Given the description of an element on the screen output the (x, y) to click on. 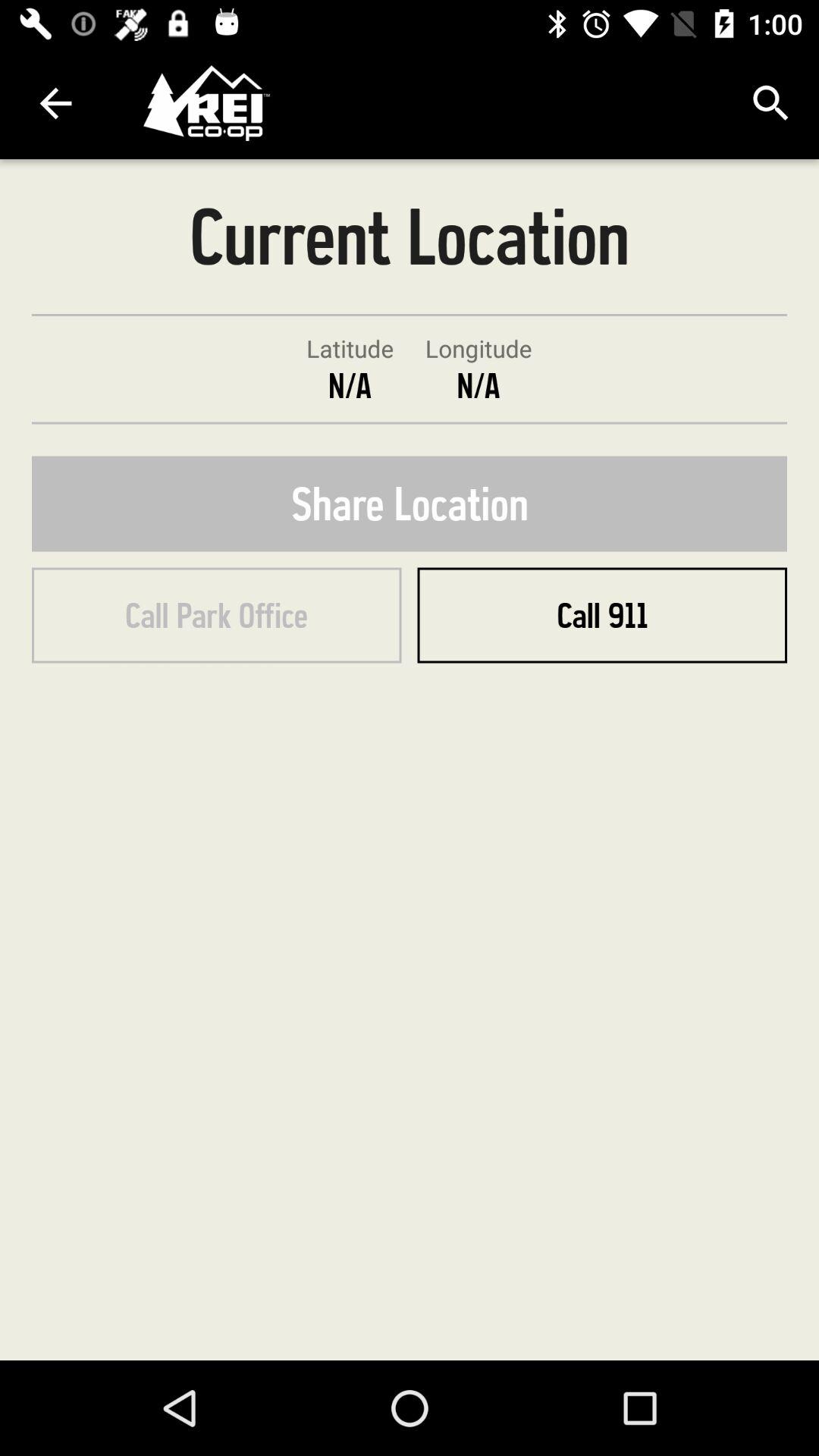
open icon next to call park office icon (602, 615)
